Given the description of an element on the screen output the (x, y) to click on. 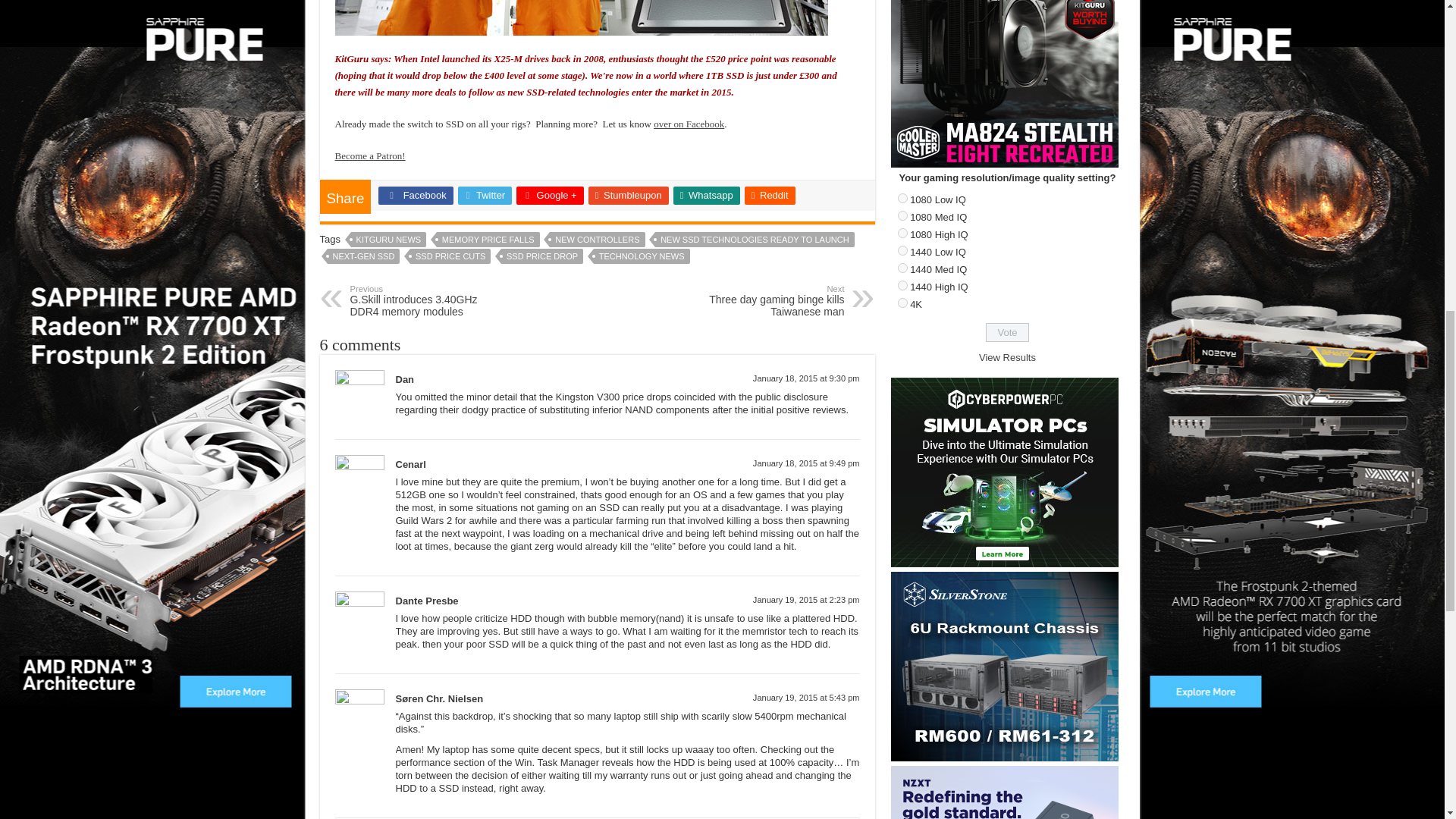
View Results Of This Poll (1006, 357)
1379 (902, 198)
1382 (902, 250)
1381 (902, 233)
1383 (902, 267)
1385 (902, 302)
   Vote    (1007, 332)
1380 (902, 215)
1384 (902, 285)
